Given the description of an element on the screen output the (x, y) to click on. 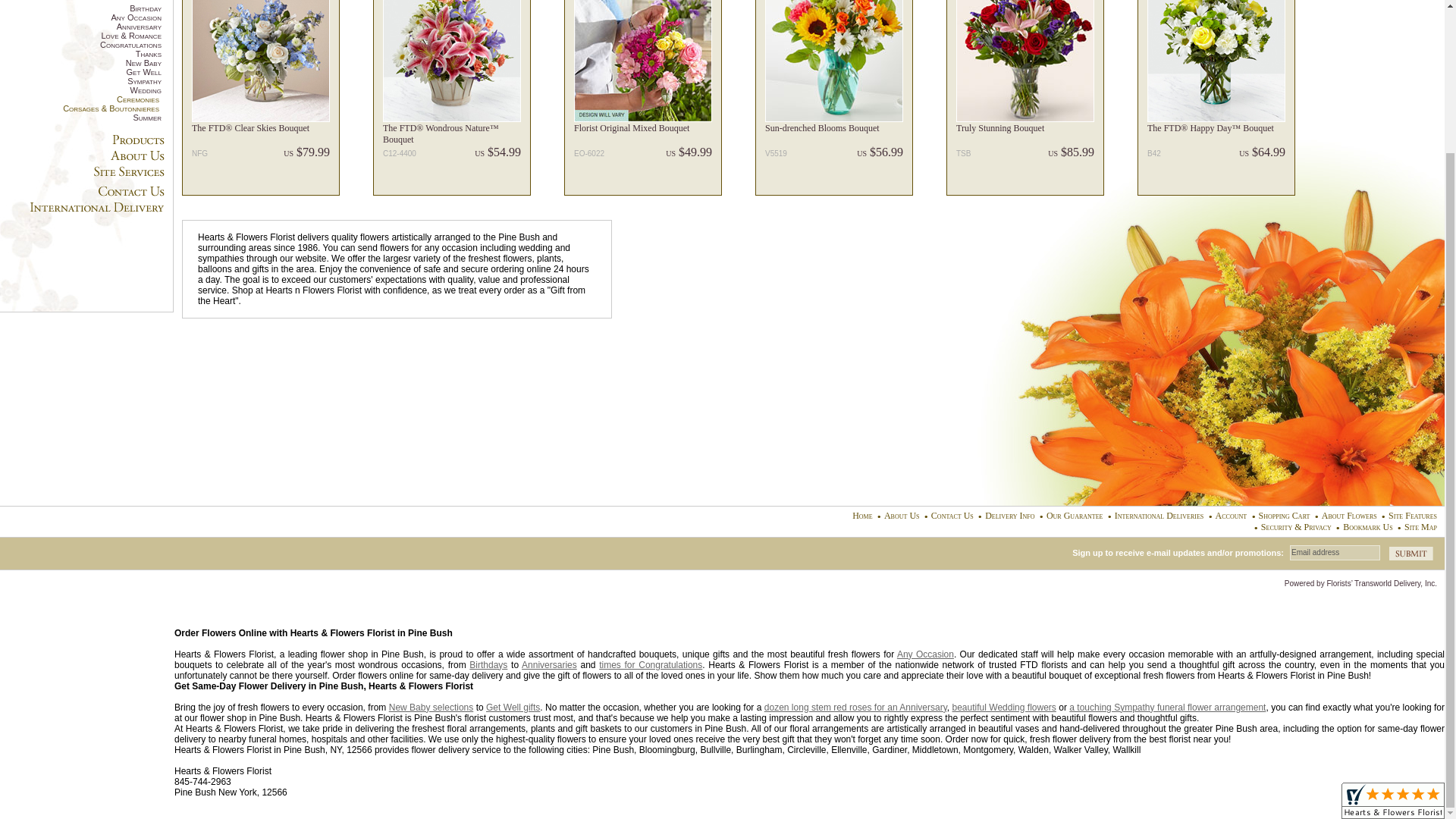
Summer (80, 117)
Email address (1335, 551)
Get Well (80, 71)
Thanks (80, 53)
Birthday (80, 8)
Sympathy (80, 80)
Wedding (80, 90)
Anniversary (80, 26)
Congratulations (80, 44)
Ceremonies (79, 99)
